Given the description of an element on the screen output the (x, y) to click on. 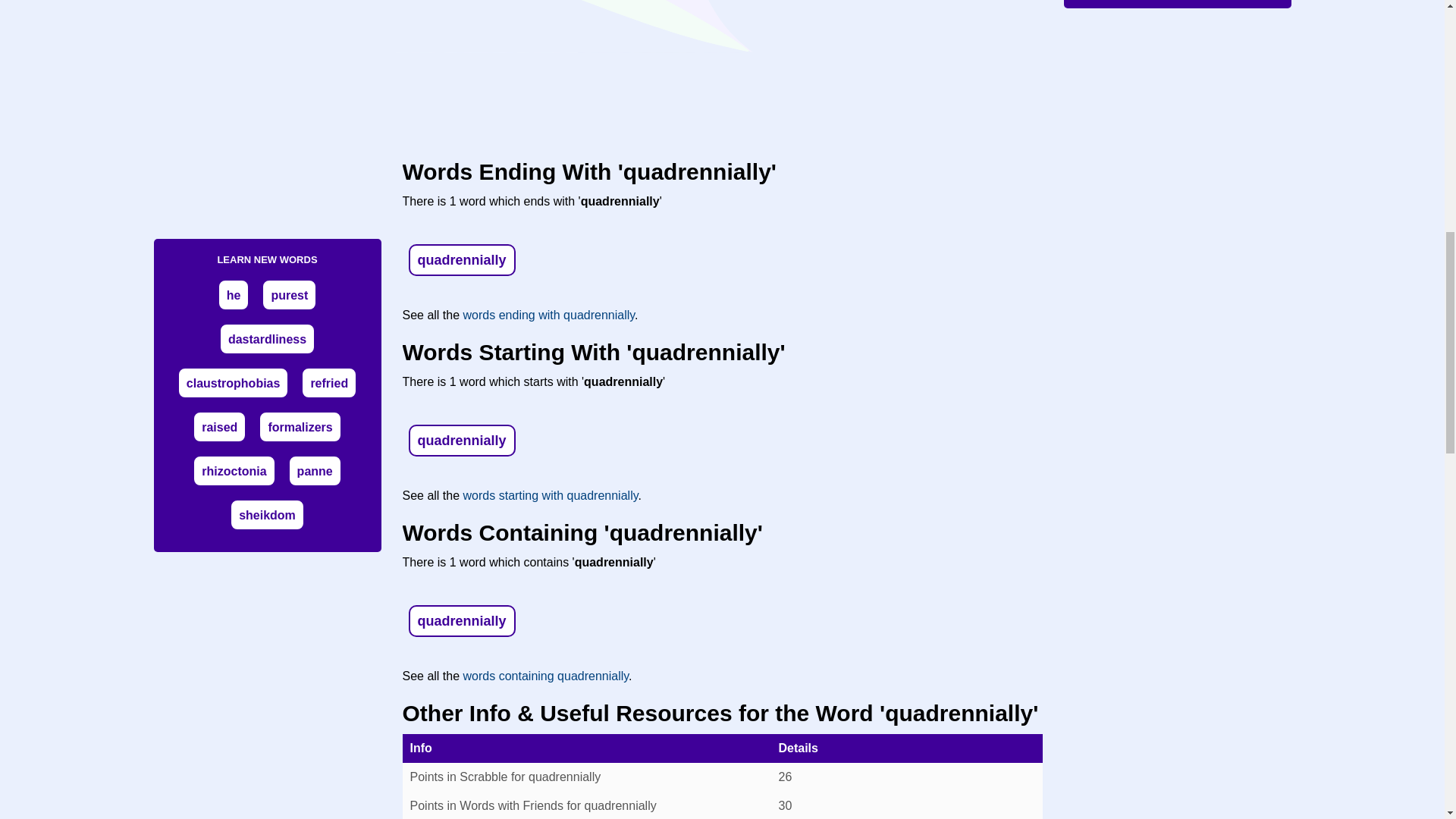
words containing quadrennially (545, 675)
quadrennially (460, 620)
dastardliness (266, 338)
quadrennially (460, 440)
words ending with quadrennially (548, 314)
claustrophobias (233, 382)
quadrennially (460, 259)
purest (288, 295)
he (234, 295)
words starting with quadrennially (551, 495)
